Given the description of an element on the screen output the (x, y) to click on. 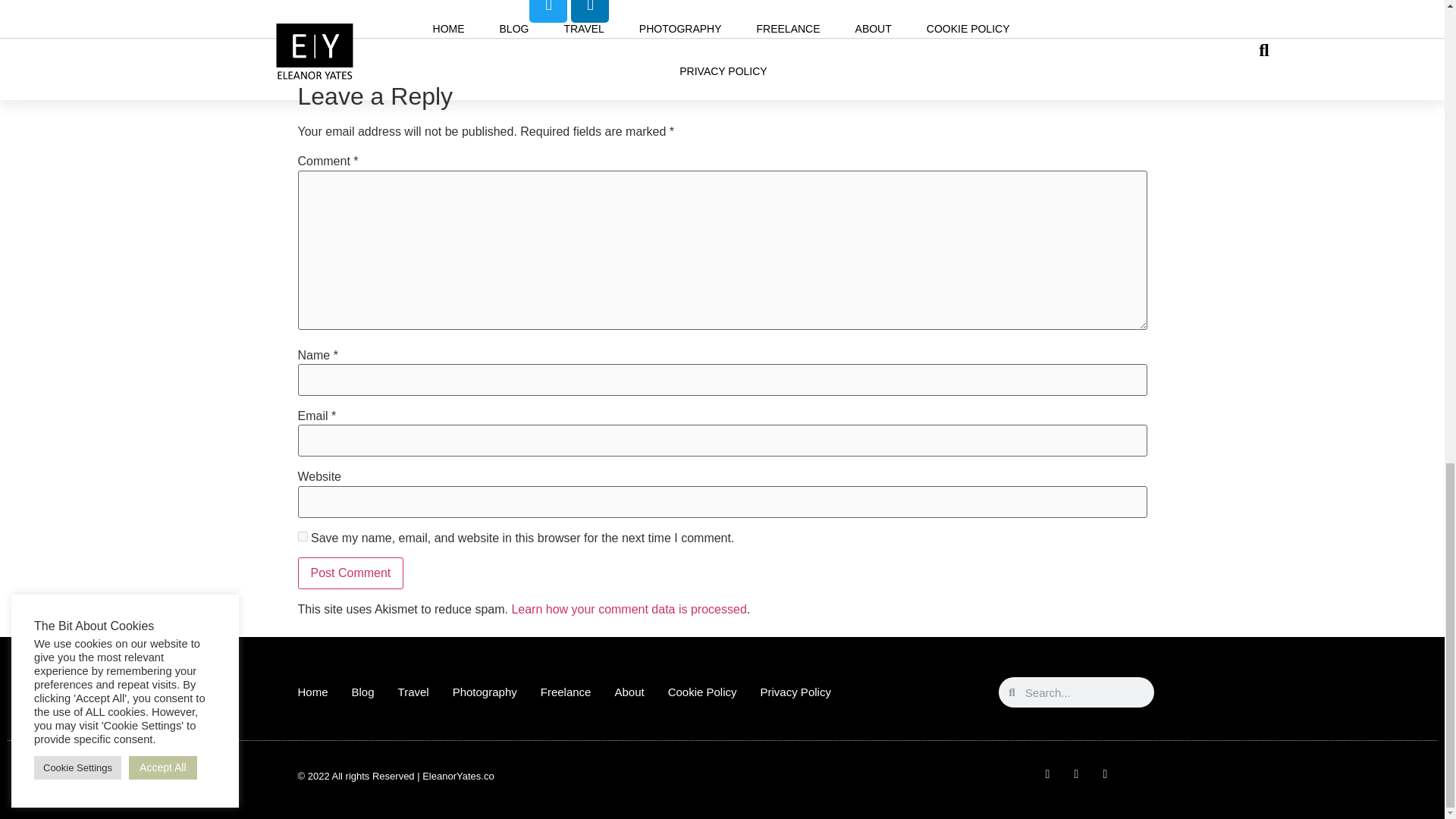
Post Comment (350, 572)
Post Comment (350, 572)
yes (302, 536)
